Given the description of an element on the screen output the (x, y) to click on. 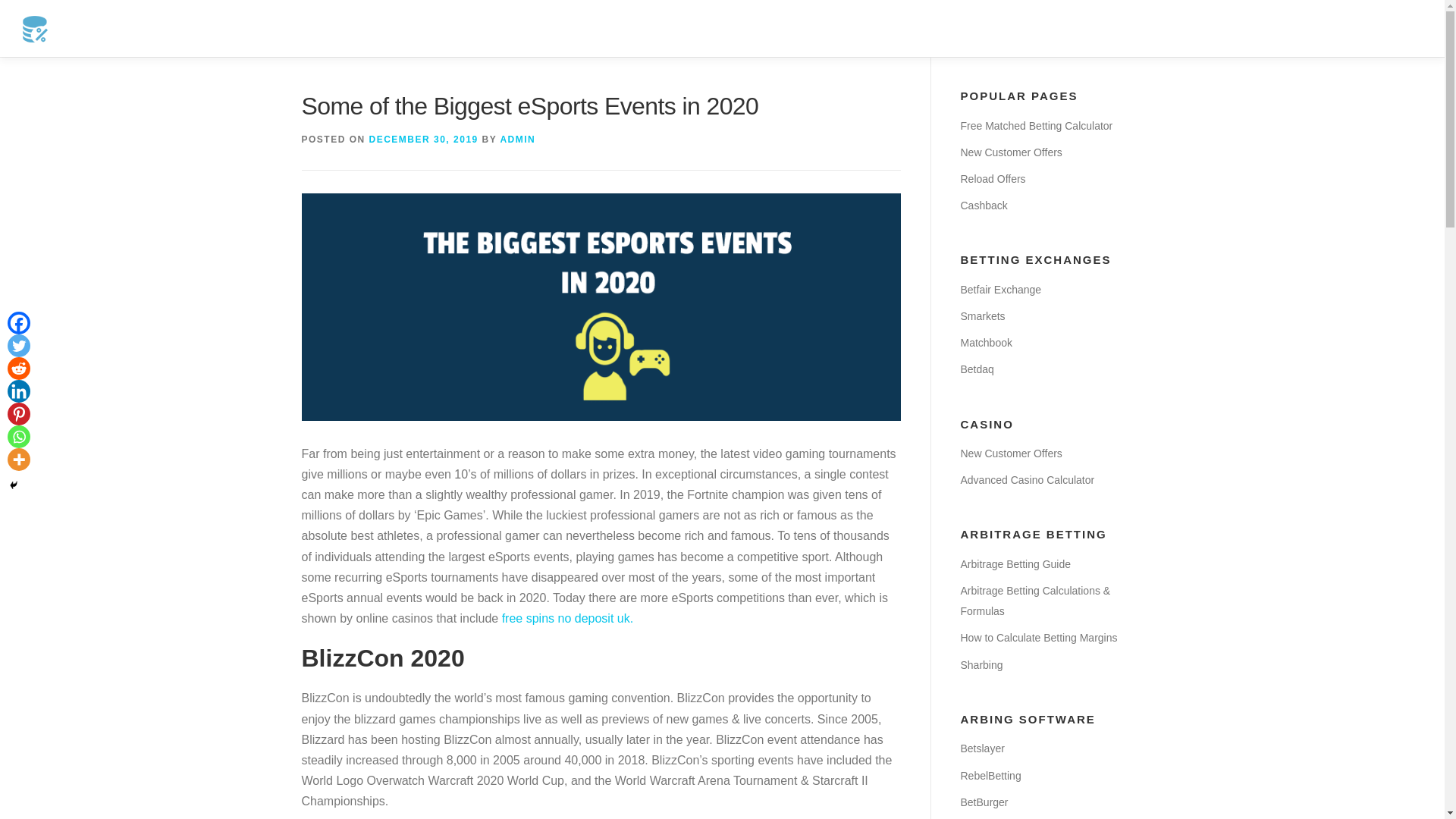
More (18, 458)
RELOAD OFFERS (837, 28)
MATCHED BETTING SITES (528, 28)
Twitter (18, 345)
Reddit (18, 368)
Hide (13, 485)
Facebook (18, 323)
Linkedin (18, 391)
Pinterest (18, 413)
NEW CUSTOMER OFFERS (694, 28)
